Given the description of an element on the screen output the (x, y) to click on. 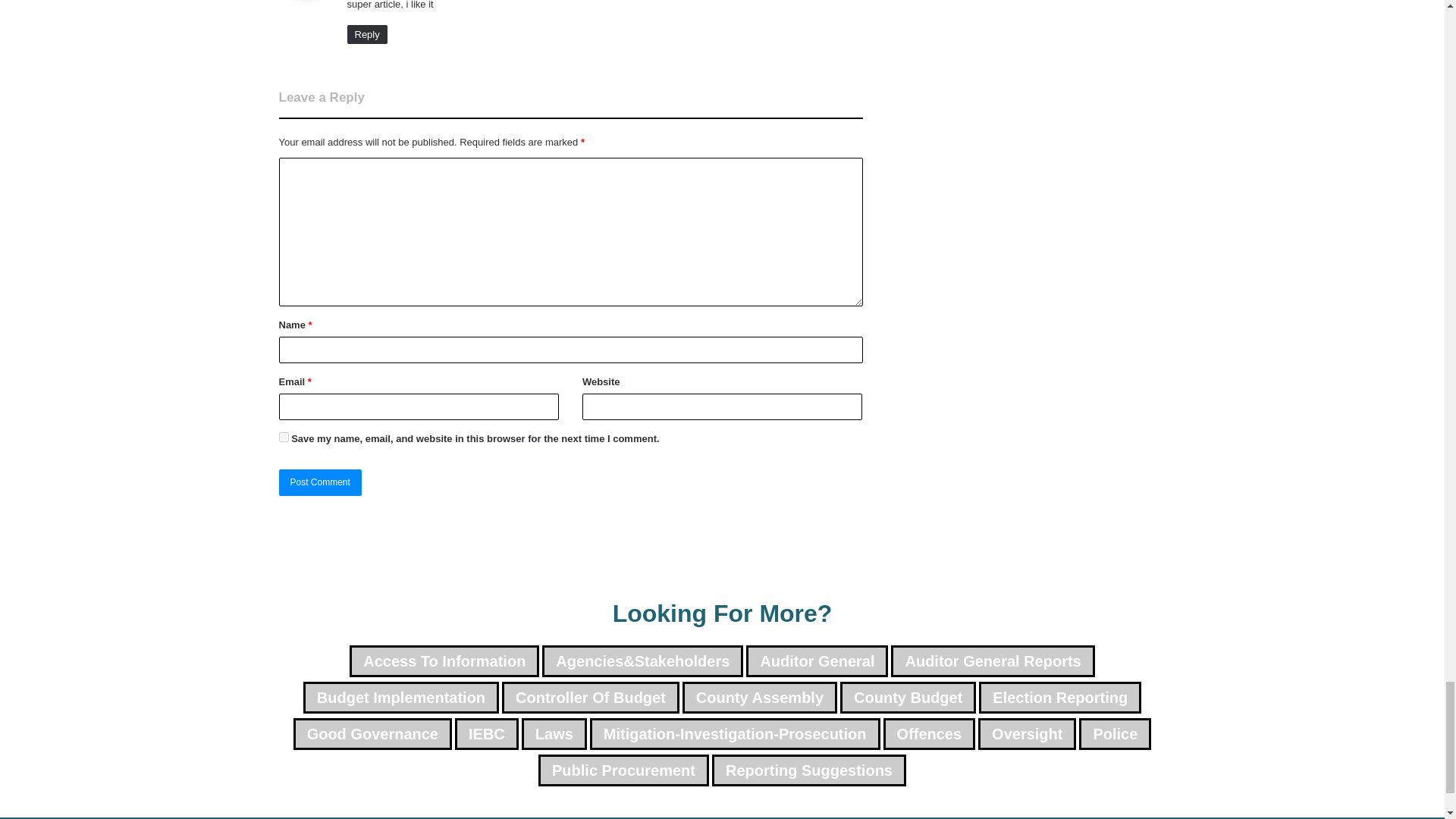
Post Comment (320, 482)
yes (283, 437)
